Given the description of an element on the screen output the (x, y) to click on. 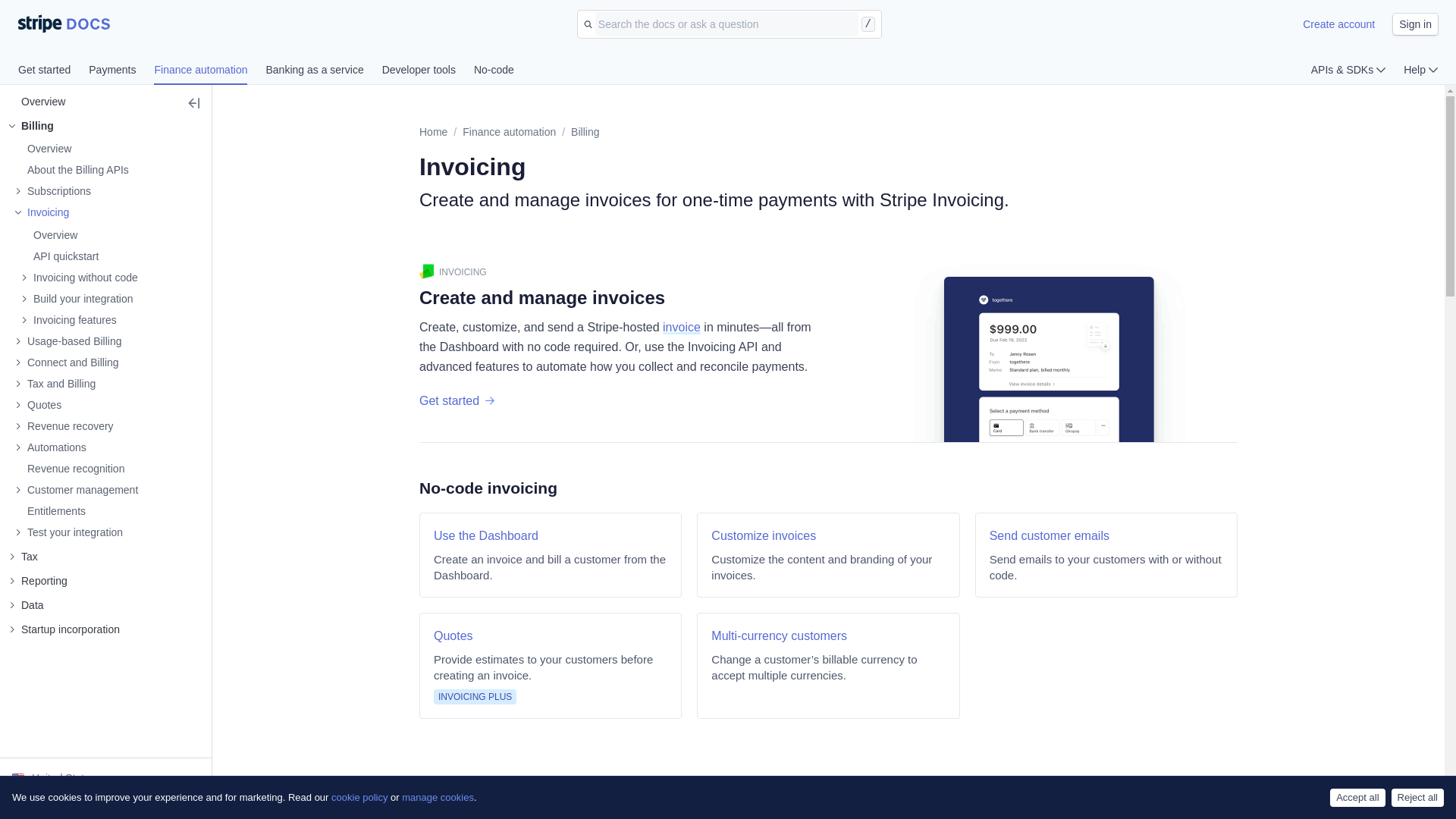
API quickstart (60, 255)
Billing (73, 125)
Learn how to create and send invoices (77, 298)
Invoicing without code (79, 277)
Billing (584, 132)
Invoicing (76, 212)
The Stripe Docs logo (63, 24)
Overview (42, 148)
Skip to content (17, 17)
Sign in (1415, 24)
Usage-based Billing (68, 340)
Learn about quotes (37, 404)
Get started (52, 71)
Learn how Stripe Invoicing works (49, 234)
